Given the description of an element on the screen output the (x, y) to click on. 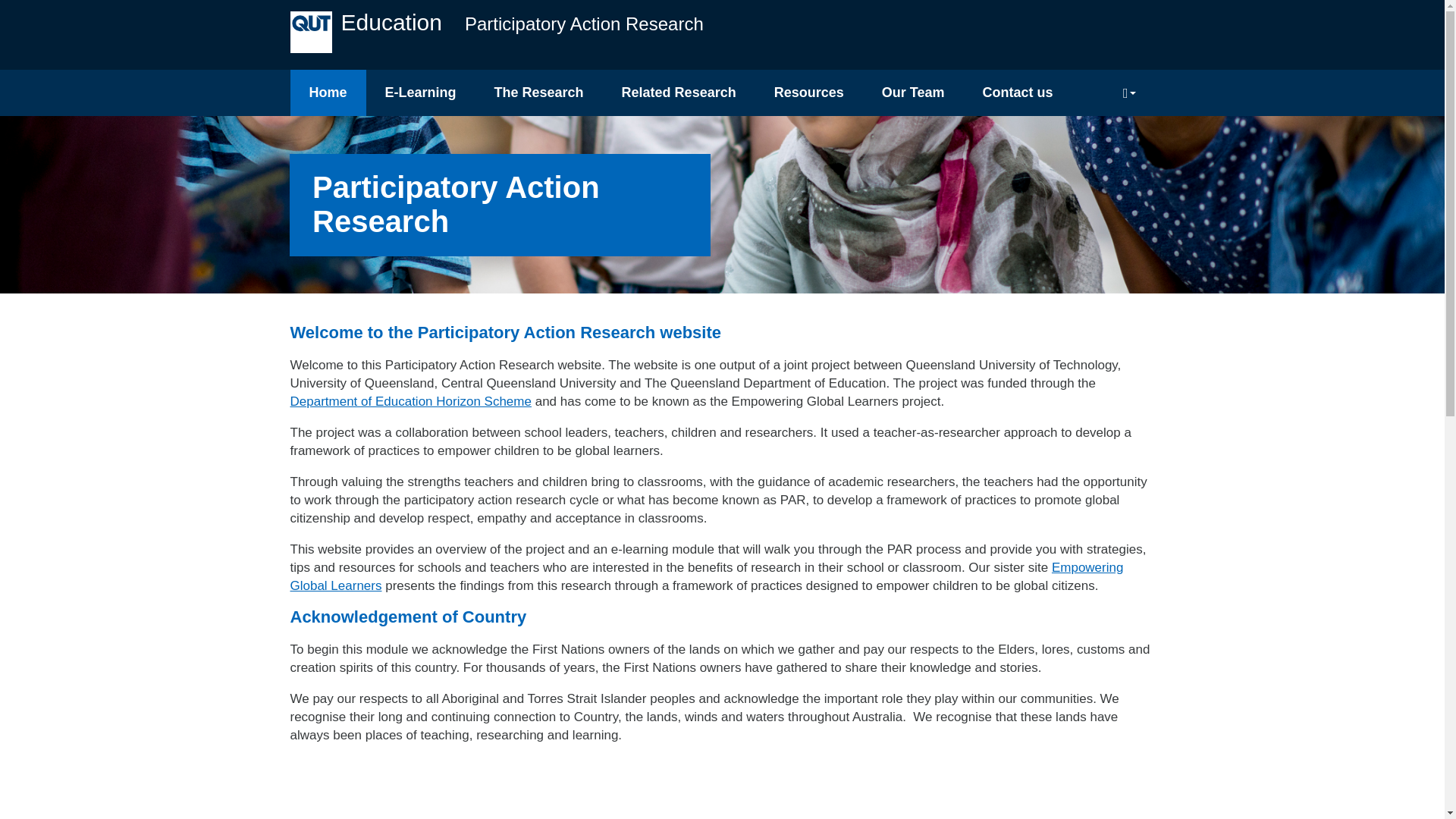
Related Research (678, 92)
Education (391, 22)
Participatory Action Research (583, 30)
Participatory Action Research (583, 30)
Resources (809, 92)
Department of Education Horizon Scheme (410, 400)
Empowering Global Learners (705, 575)
E-Learning (421, 92)
Contact us (1016, 92)
Our Team (913, 92)
Home (327, 92)
The Research (539, 92)
